Given the description of an element on the screen output the (x, y) to click on. 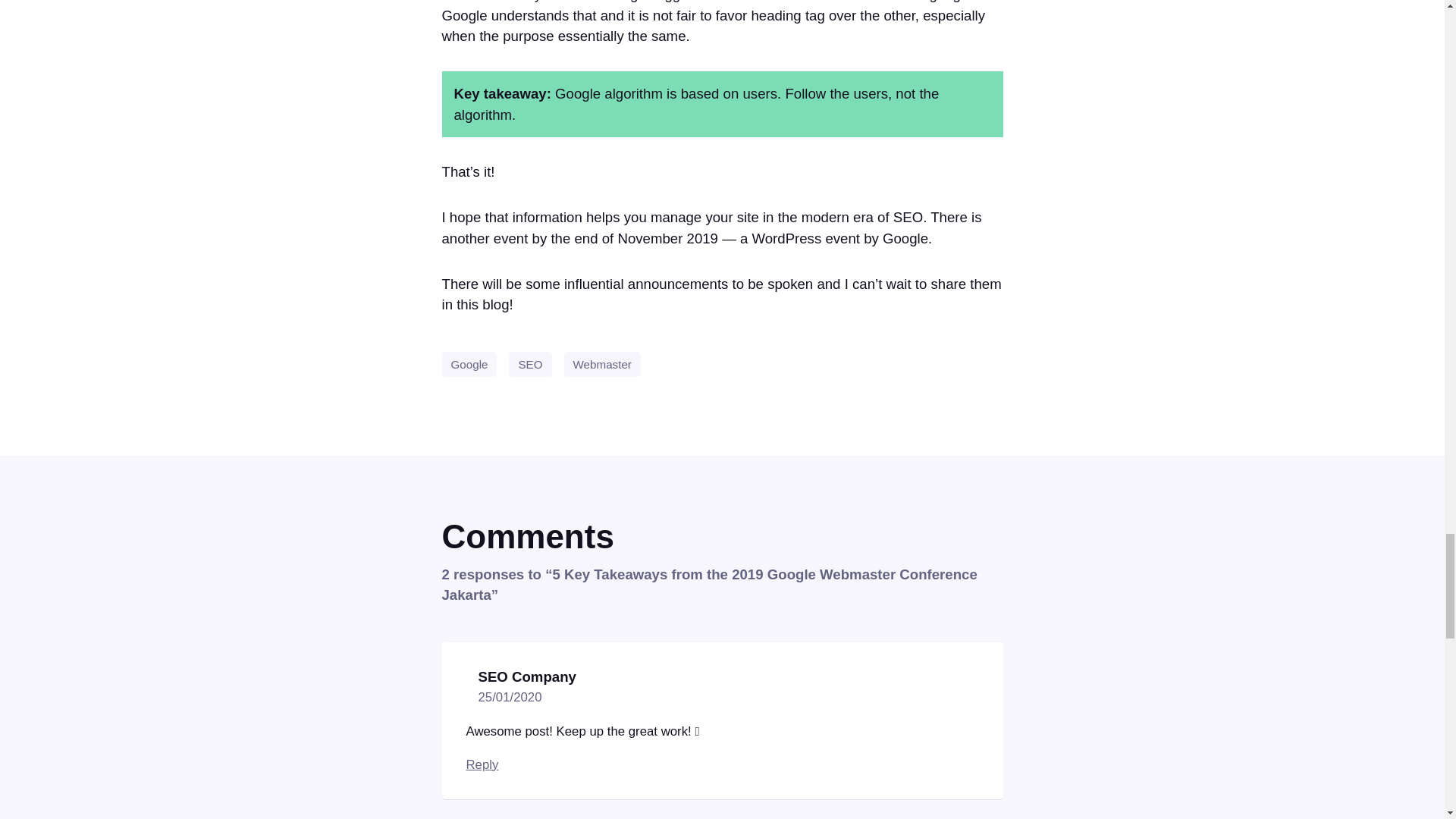
Reply (481, 764)
SEO Company (526, 676)
SEO (529, 364)
Google (468, 364)
Webmaster (602, 364)
